Given the description of an element on the screen output the (x, y) to click on. 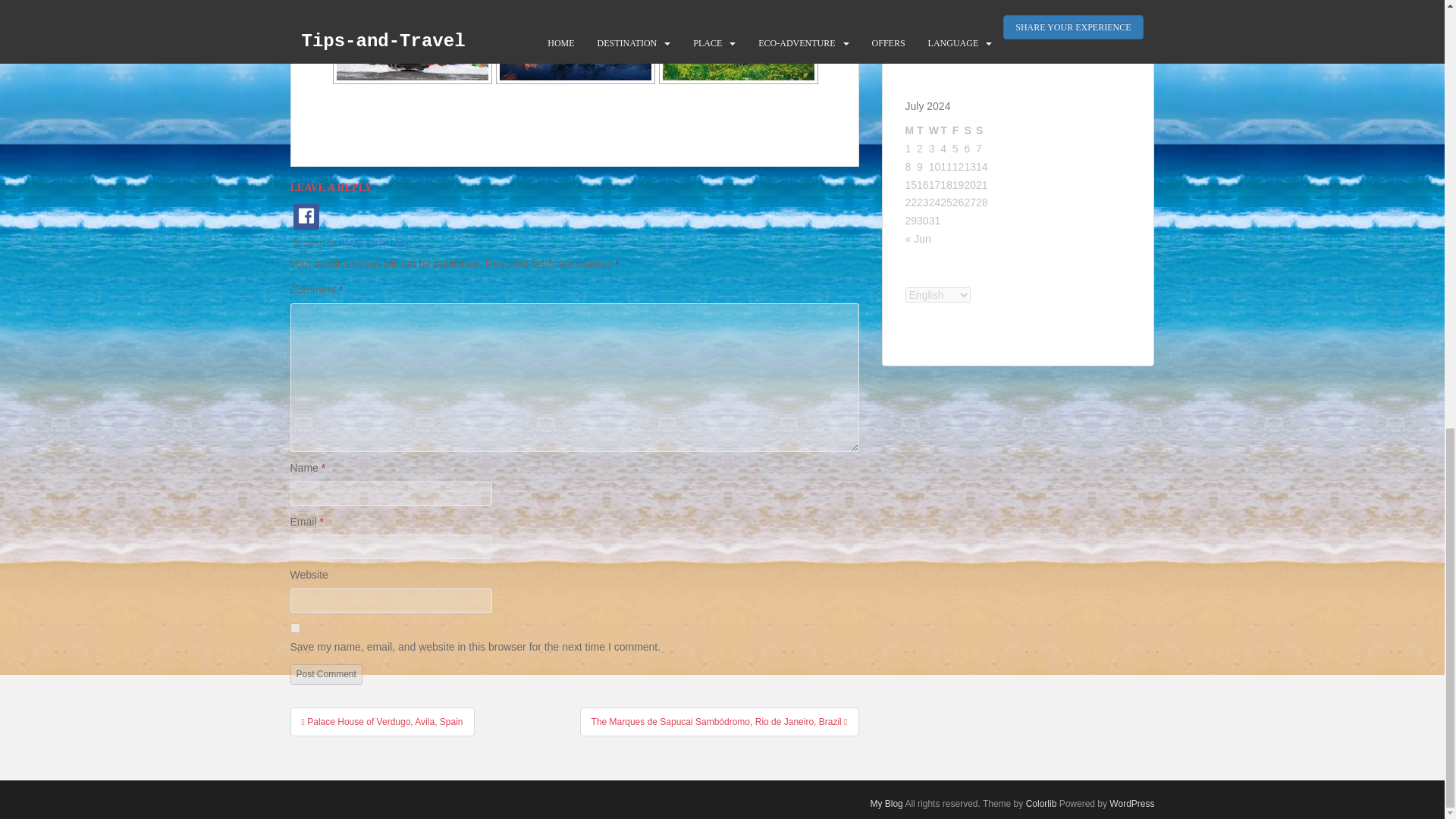
yes (294, 628)
Post Comment (325, 673)
